Given the description of an element on the screen output the (x, y) to click on. 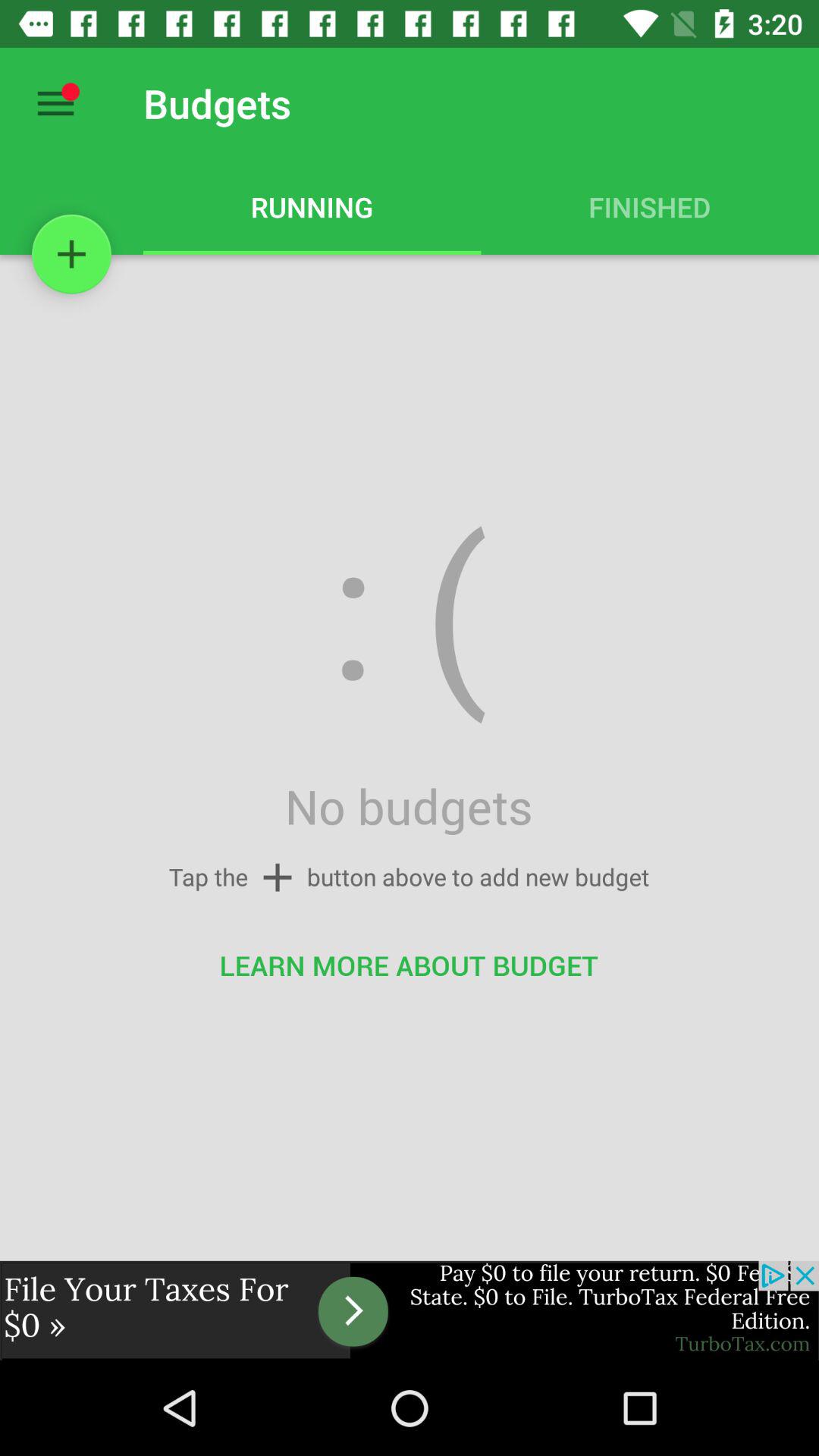
go forward (409, 1310)
